Given the description of an element on the screen output the (x, y) to click on. 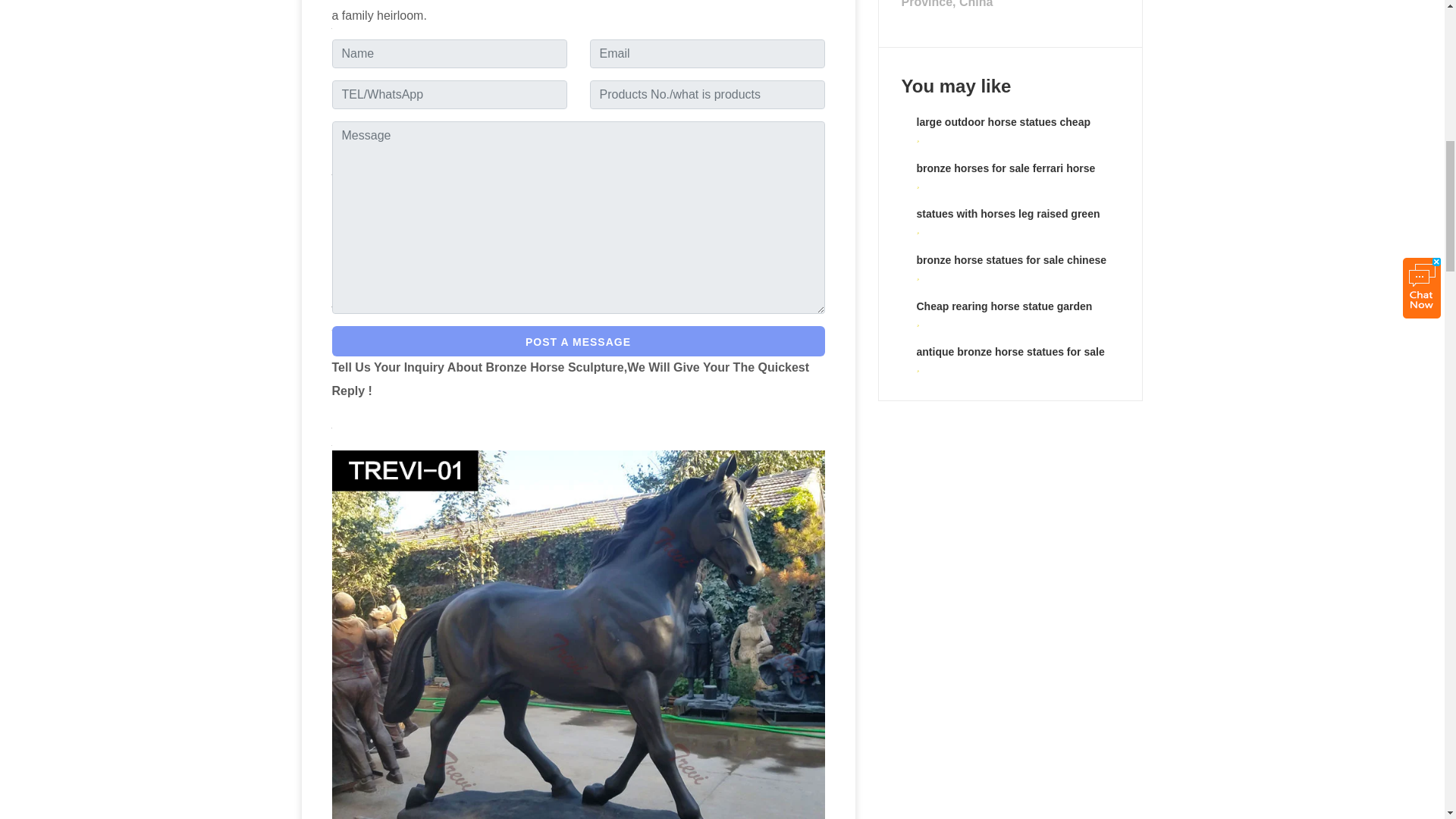
statues with horses leg raised green horse sculpture (1007, 222)
large outdoor horse statues cheap horse sculptures (1002, 130)
large outdoor horse statues cheap horse sculptures (1002, 130)
POST A MESSAGE (578, 340)
Cheap rearing horse statue garden statues uk (1003, 315)
bronze horses for sale ferrari horse sculpture for sale (1004, 176)
bronze horses for sale ferrari horse sculpture for sale (1004, 176)
